Given the description of an element on the screen output the (x, y) to click on. 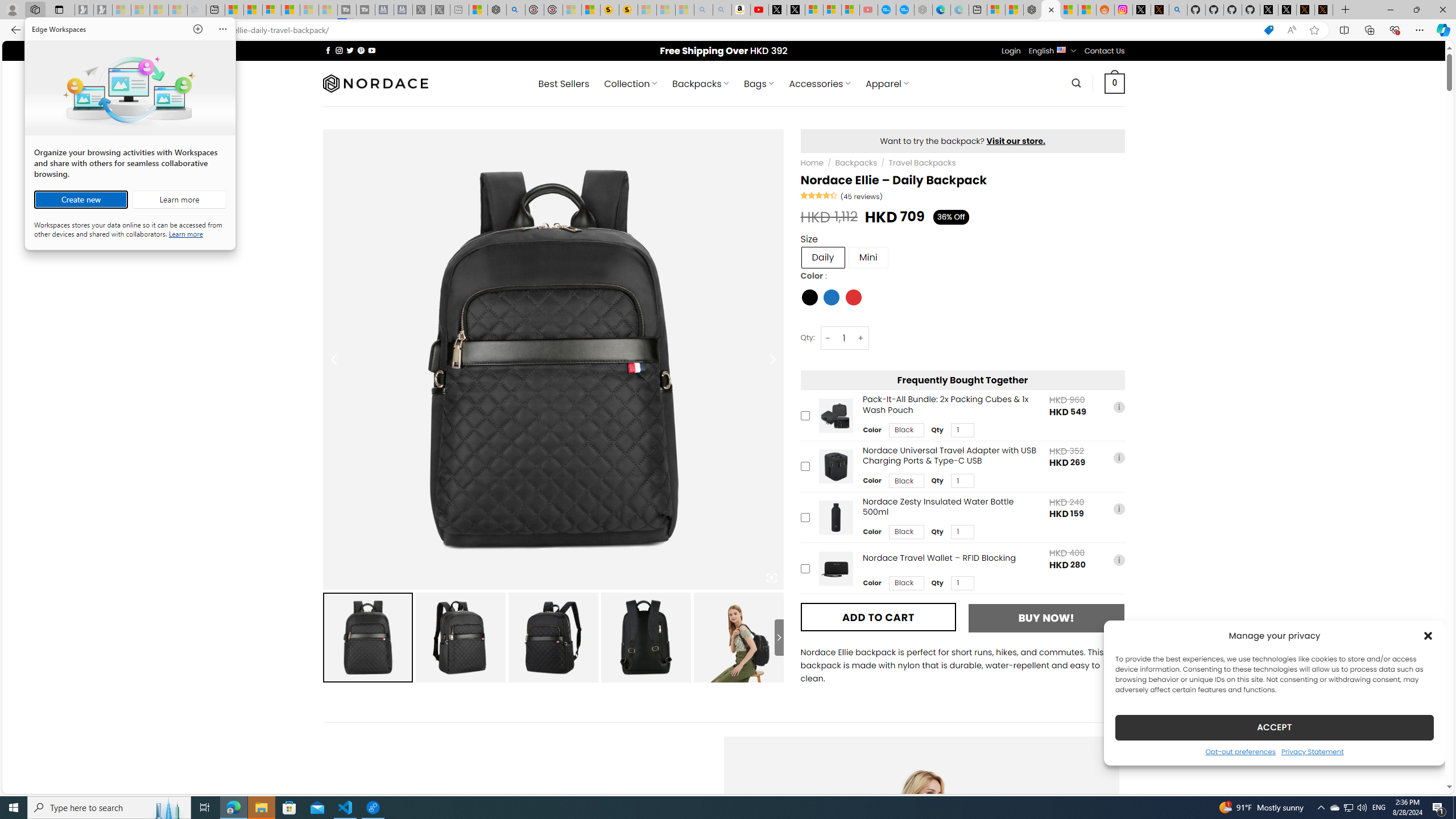
Start (13, 807)
Day 1: Arriving in Yemen (surreal to be here) - YouTube (759, 9)
Learn more about Workspaces privacy (185, 233)
Type here to search (108, 807)
